Given the description of an element on the screen output the (x, y) to click on. 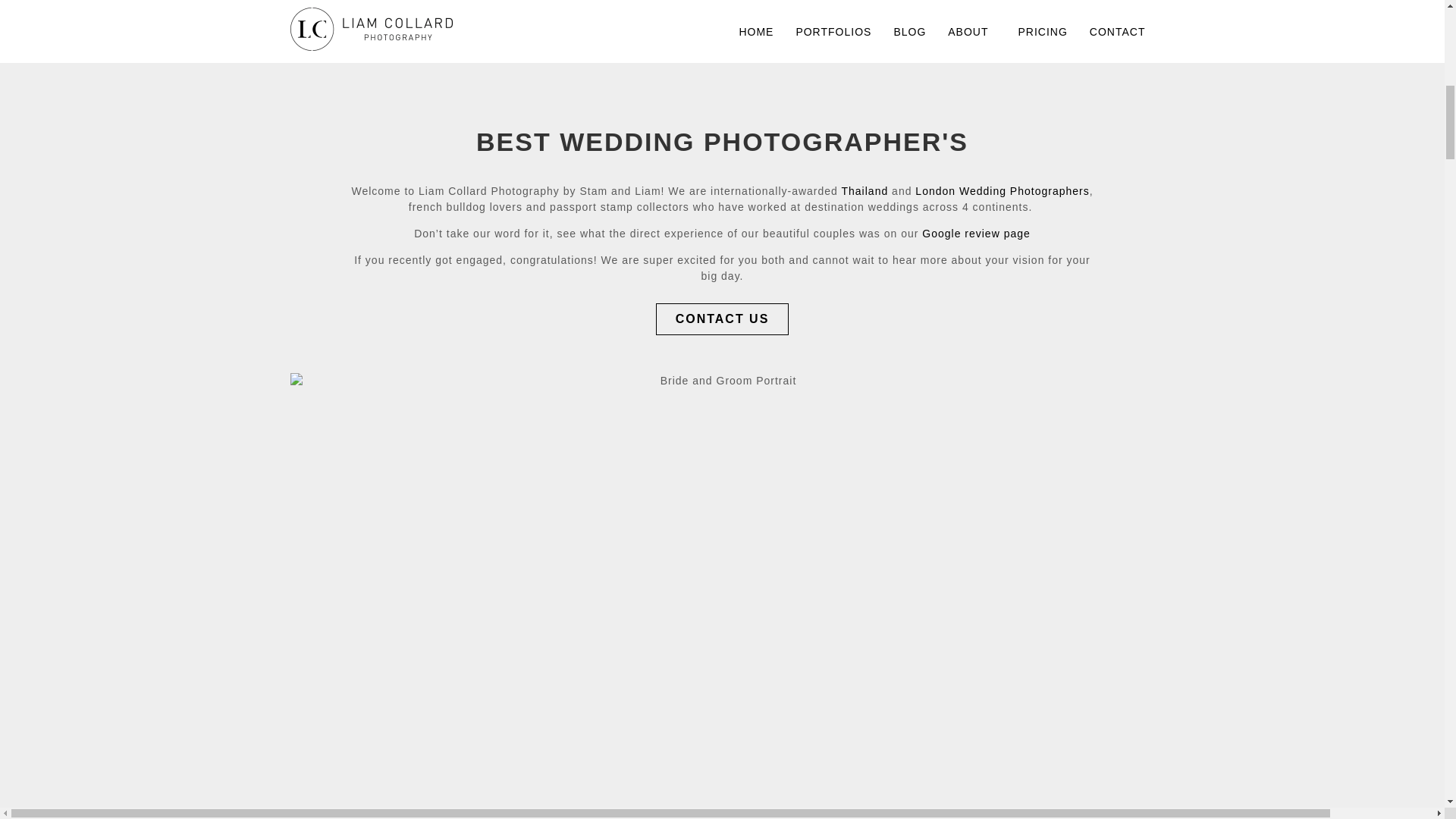
CONTACT US (722, 318)
PORTFOLIOS (833, 31)
London Wedding Photographers (1002, 191)
HOME (756, 31)
Thailand (864, 191)
ABOUT (971, 31)
BLOG (908, 31)
Google review page (975, 233)
CONTACT (1117, 31)
PRICING (1043, 31)
